Given the description of an element on the screen output the (x, y) to click on. 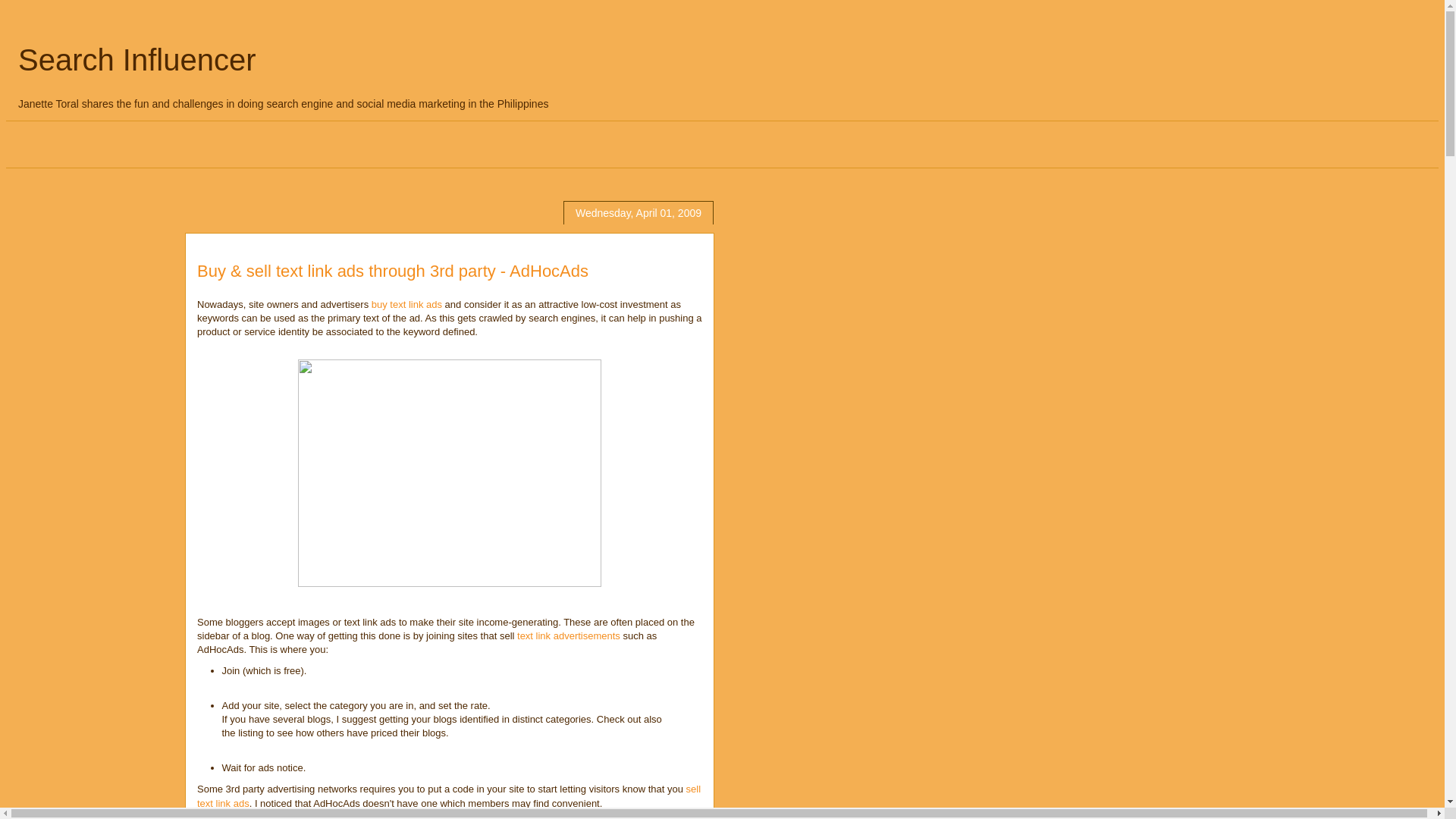
text link advertisements (568, 635)
Search Influencer (136, 59)
buy text link ads (406, 304)
sell text link ads (448, 795)
